Given the description of an element on the screen output the (x, y) to click on. 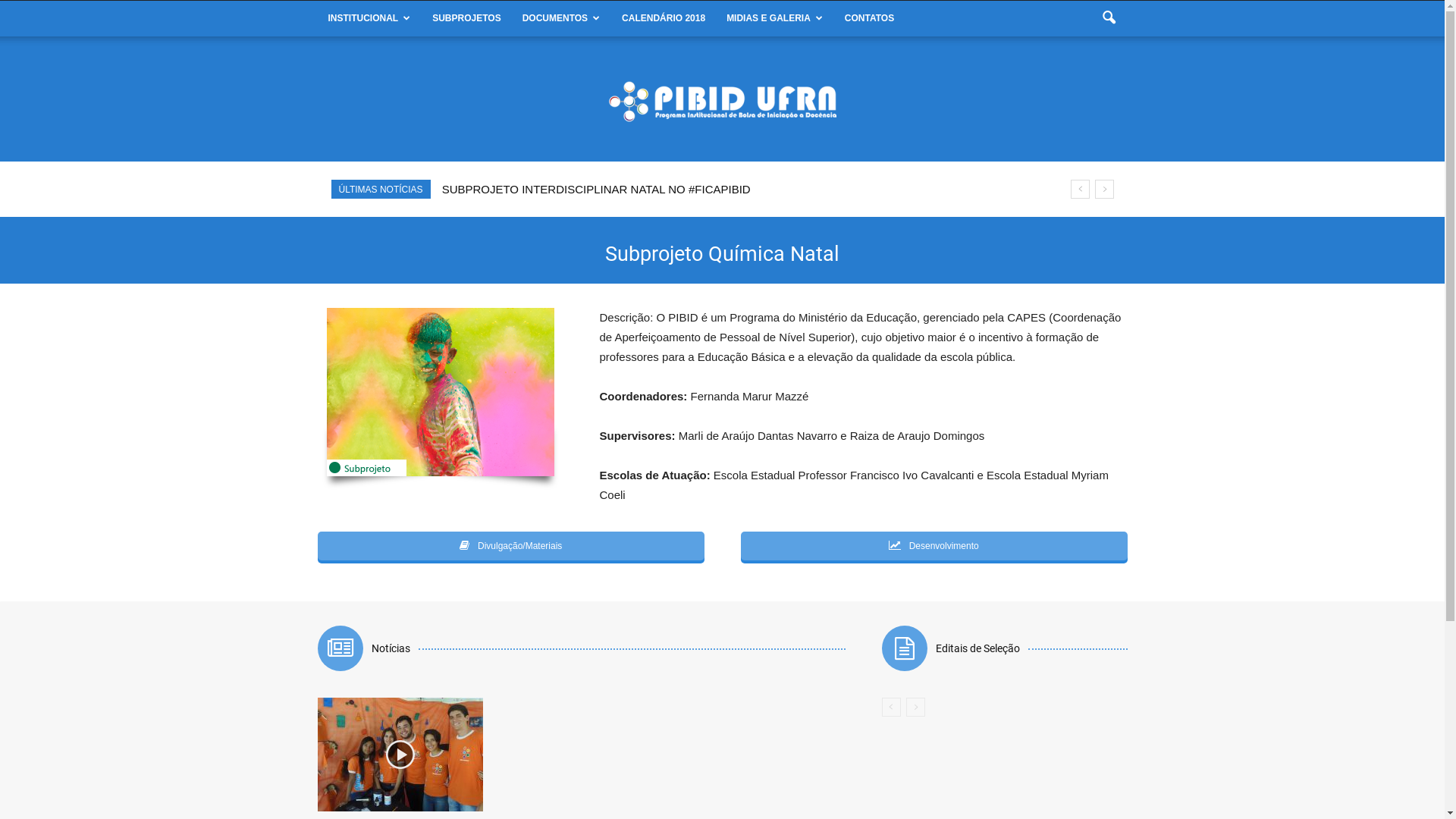
MIDIAS E GALERIA Element type: text (774, 18)
DOCUMENTOS Element type: text (561, 18)
PIBID UFRN Element type: text (722, 101)
SUBPROJETO INTERDISCIPLINAR NATAL NO #FICAPIBID Element type: text (600, 188)
CONTATOS Element type: text (869, 18)
SUBPROJETOS Element type: text (466, 18)
Desenvolvimento Element type: text (933, 545)
INSTITUCIONAL Element type: text (368, 18)
barra-subprojetos-logo Element type: hover (439, 391)
